Given the description of an element on the screen output the (x, y) to click on. 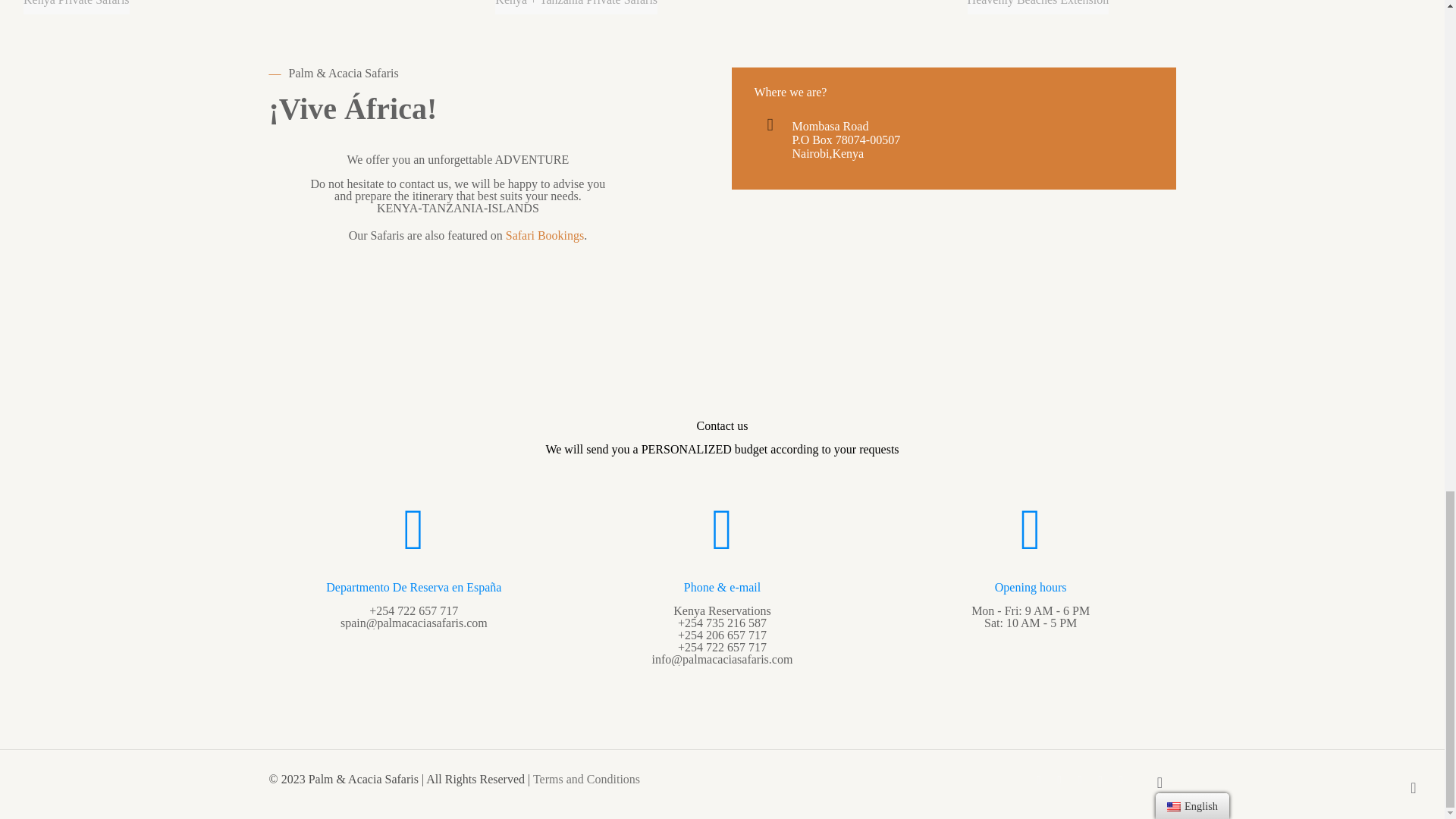
Twitter (1059, 779)
YouTube (1079, 779)
Terms and Conditions (586, 779)
Safari Bookings (545, 235)
Facebook (1038, 779)
